Given the description of an element on the screen output the (x, y) to click on. 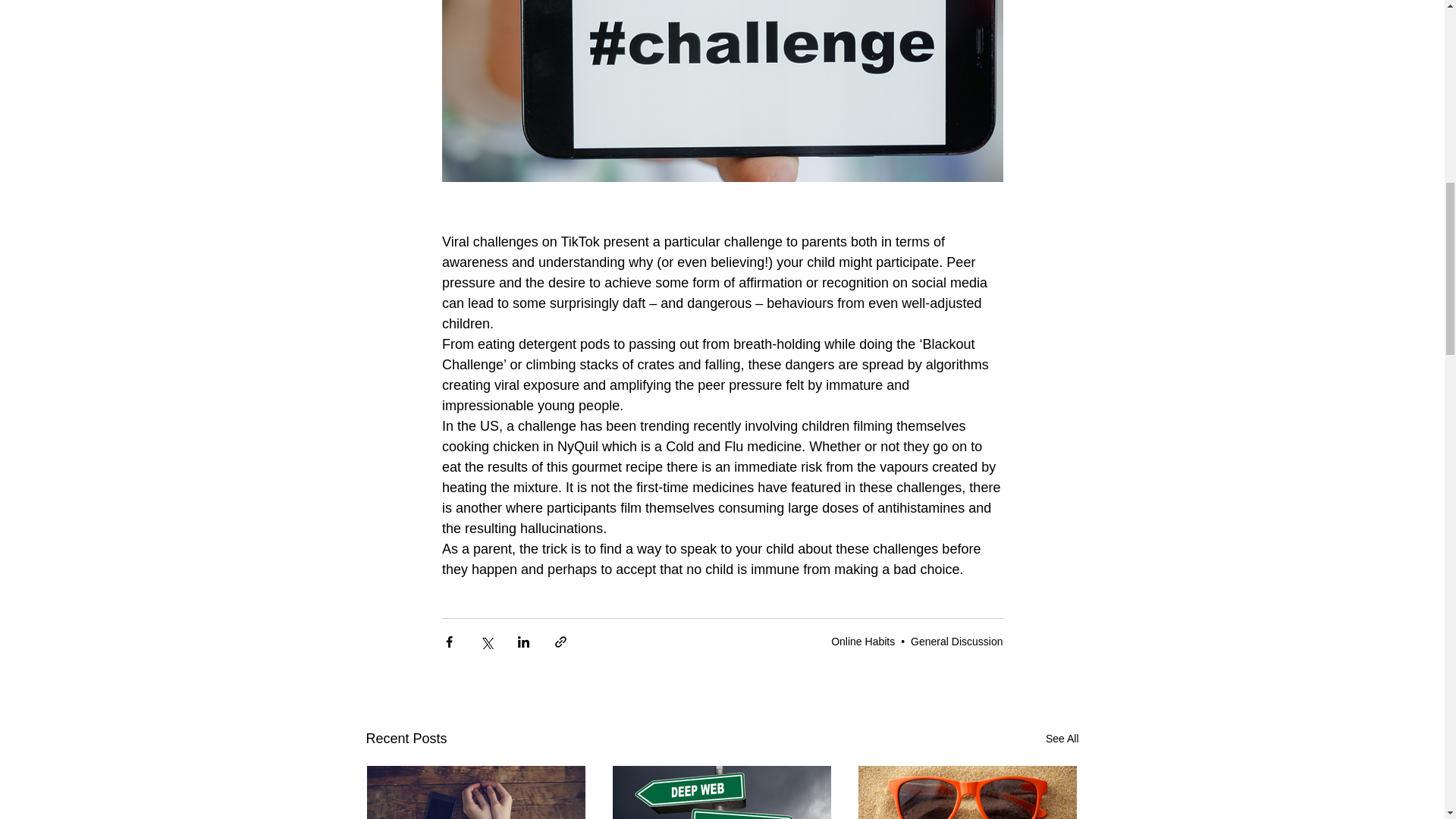
Online Habits (863, 641)
See All (1061, 739)
General Discussion (957, 641)
